Given the description of an element on the screen output the (x, y) to click on. 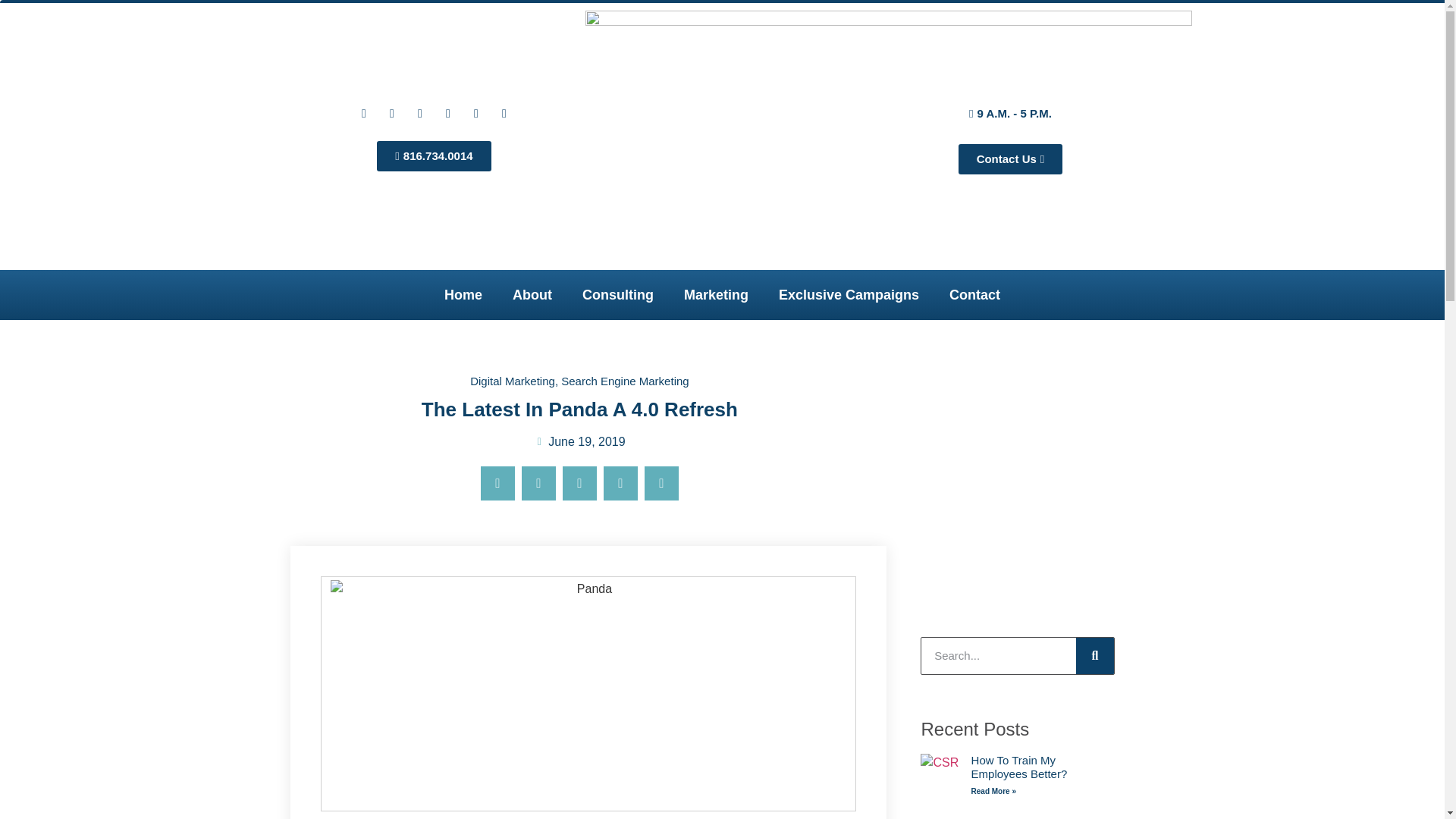
Exclusive Campaigns (848, 294)
Home (463, 294)
About (532, 294)
Contact Us (1010, 159)
Contact (974, 294)
816.734.0014 (433, 155)
Consulting (617, 294)
Marketing (715, 294)
9 A.M. - 5 P.M. (1010, 113)
